Given the description of an element on the screen output the (x, y) to click on. 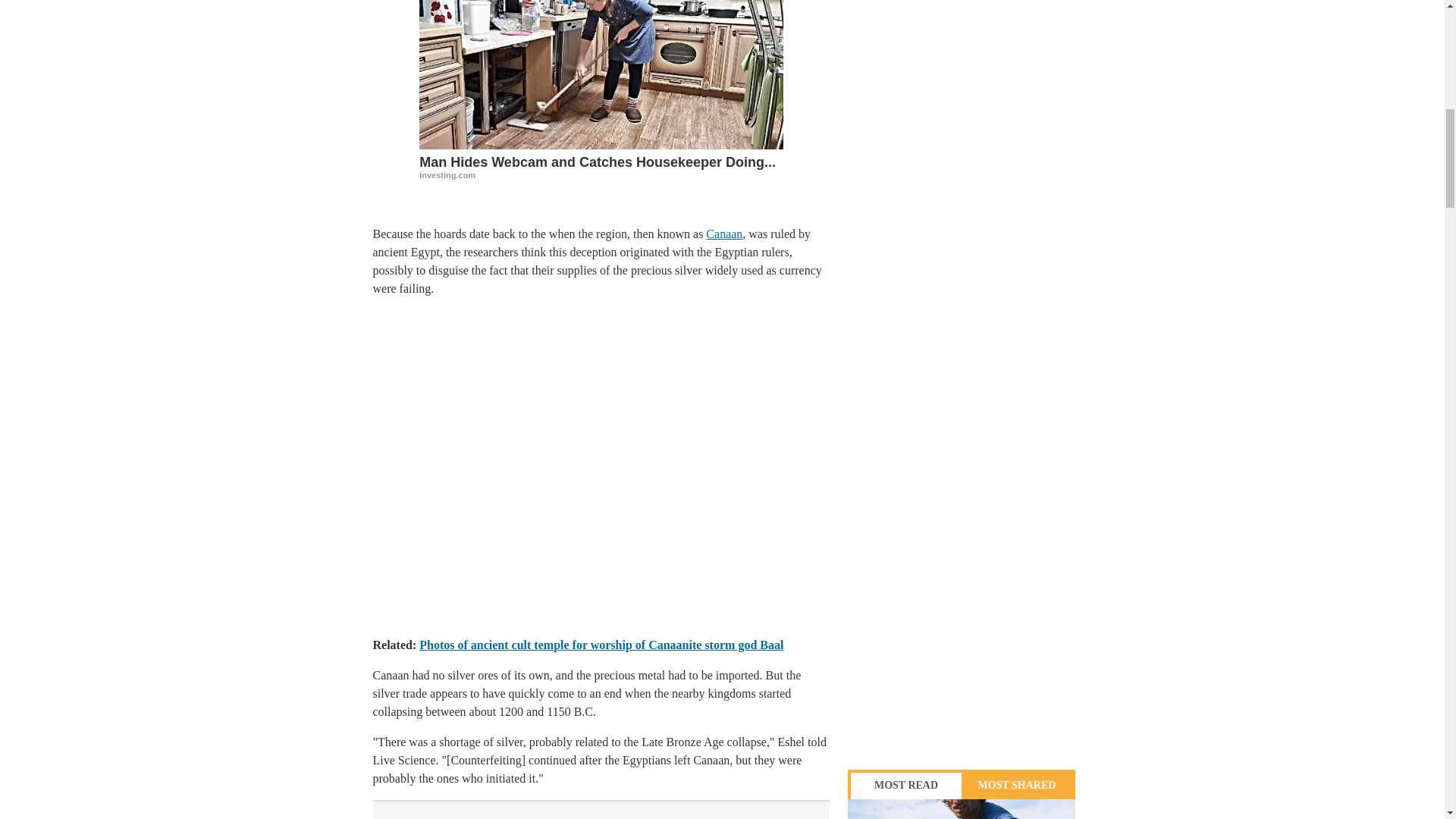
Man Hides Webcam and Catches Housekeeper Doing... (601, 165)
Man Hides Webcam and Catches Housekeeper Doing... (601, 74)
